Given the description of an element on the screen output the (x, y) to click on. 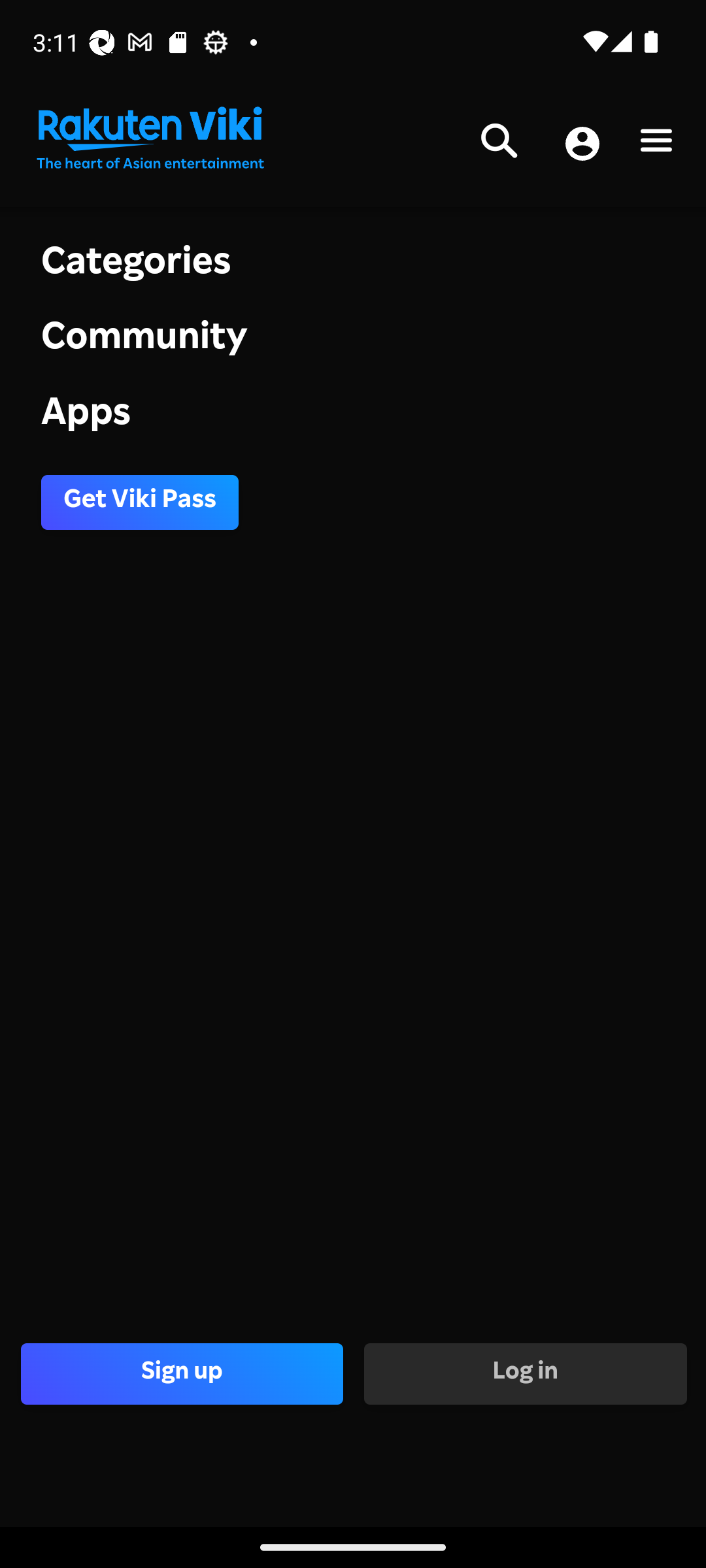
Go to homepage Rakuten Viki (149, 138)
nav.session.login (582, 144)
Settings menu (655, 143)
Categories (353, 263)
Community (353, 340)
Apps (353, 415)
Get Viki Pass (140, 501)
Sign up (181, 1373)
Log in (524, 1373)
